Given the description of an element on the screen output the (x, y) to click on. 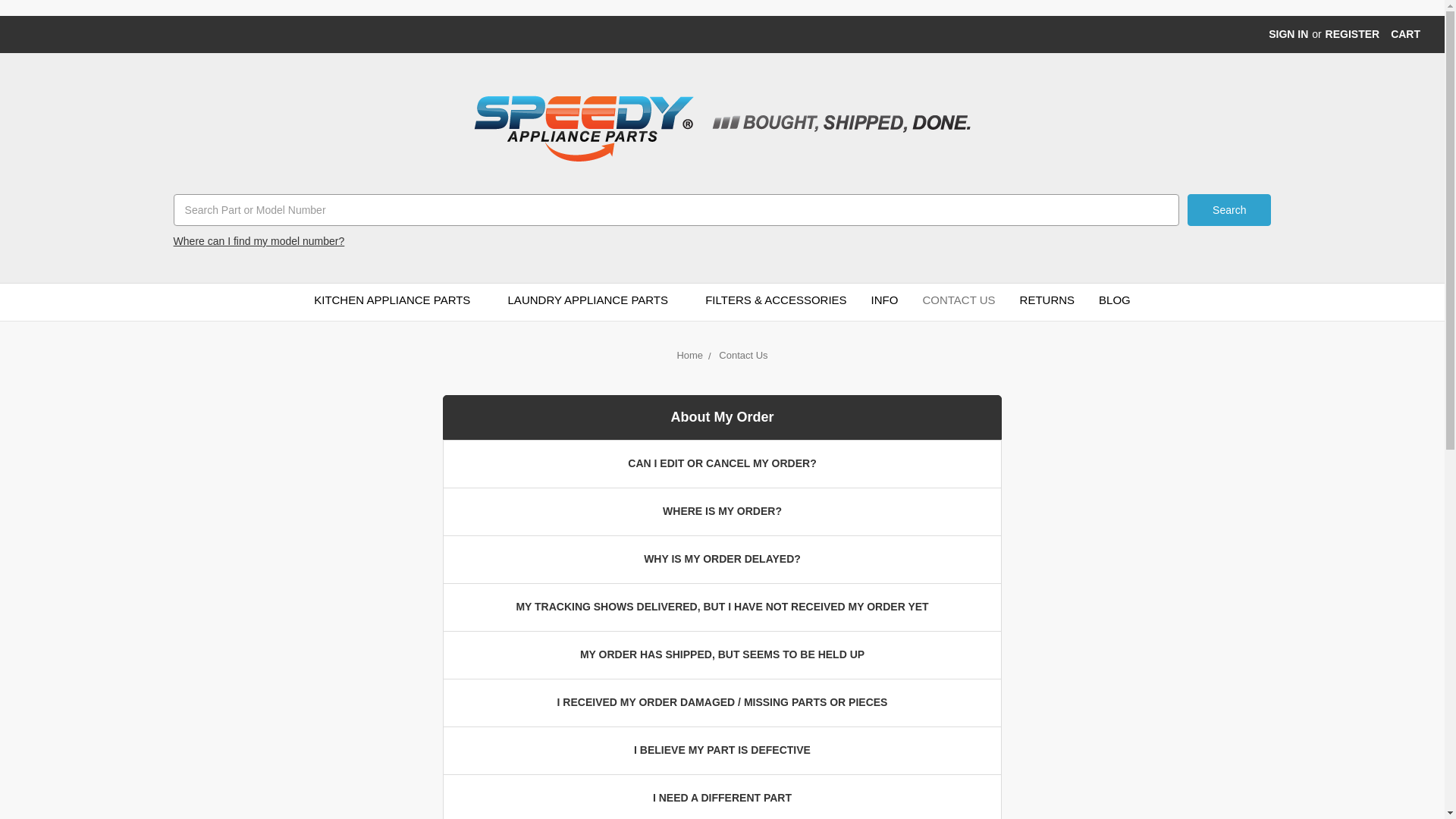
INFO (885, 302)
Search (1229, 210)
CART (1404, 34)
BLOG (1114, 302)
CONTACT US (958, 302)
Speedy Appliance Parts LLC (722, 128)
WHERE IS MY ORDER? (721, 510)
RETURNS (1047, 302)
SIGN IN (1288, 34)
Search (1229, 210)
